Given the description of an element on the screen output the (x, y) to click on. 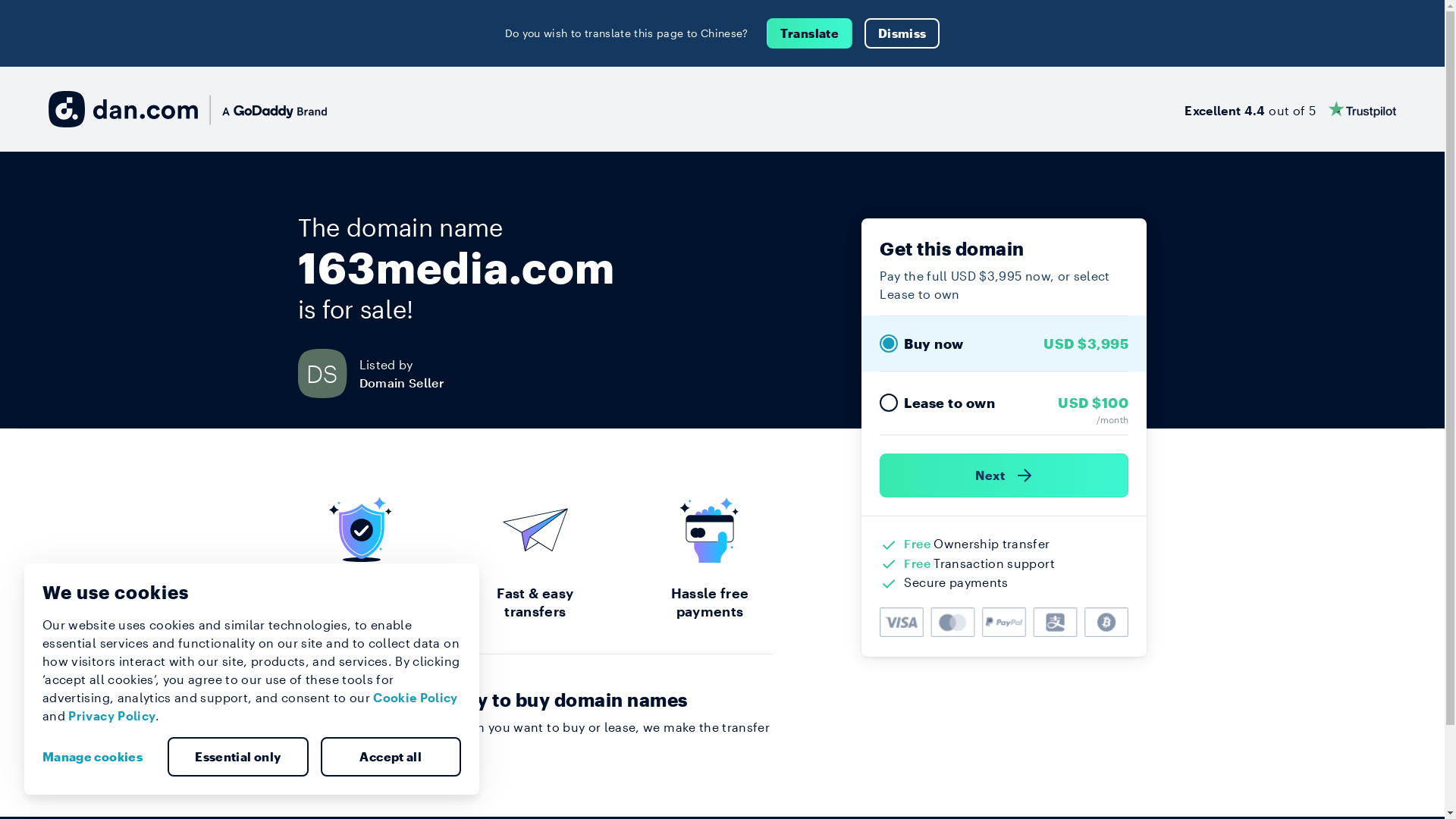
Next
) Element type: text (1003, 475)
Excellent 4.4 out of 5 Element type: text (1290, 109)
Cookie Policy Element type: text (415, 697)
Essential only Element type: text (237, 756)
Accept all Element type: text (390, 756)
Translate Element type: text (809, 33)
Privacy Policy Element type: text (111, 715)
Dismiss Element type: text (901, 33)
Manage cookies Element type: text (98, 756)
